Given the description of an element on the screen output the (x, y) to click on. 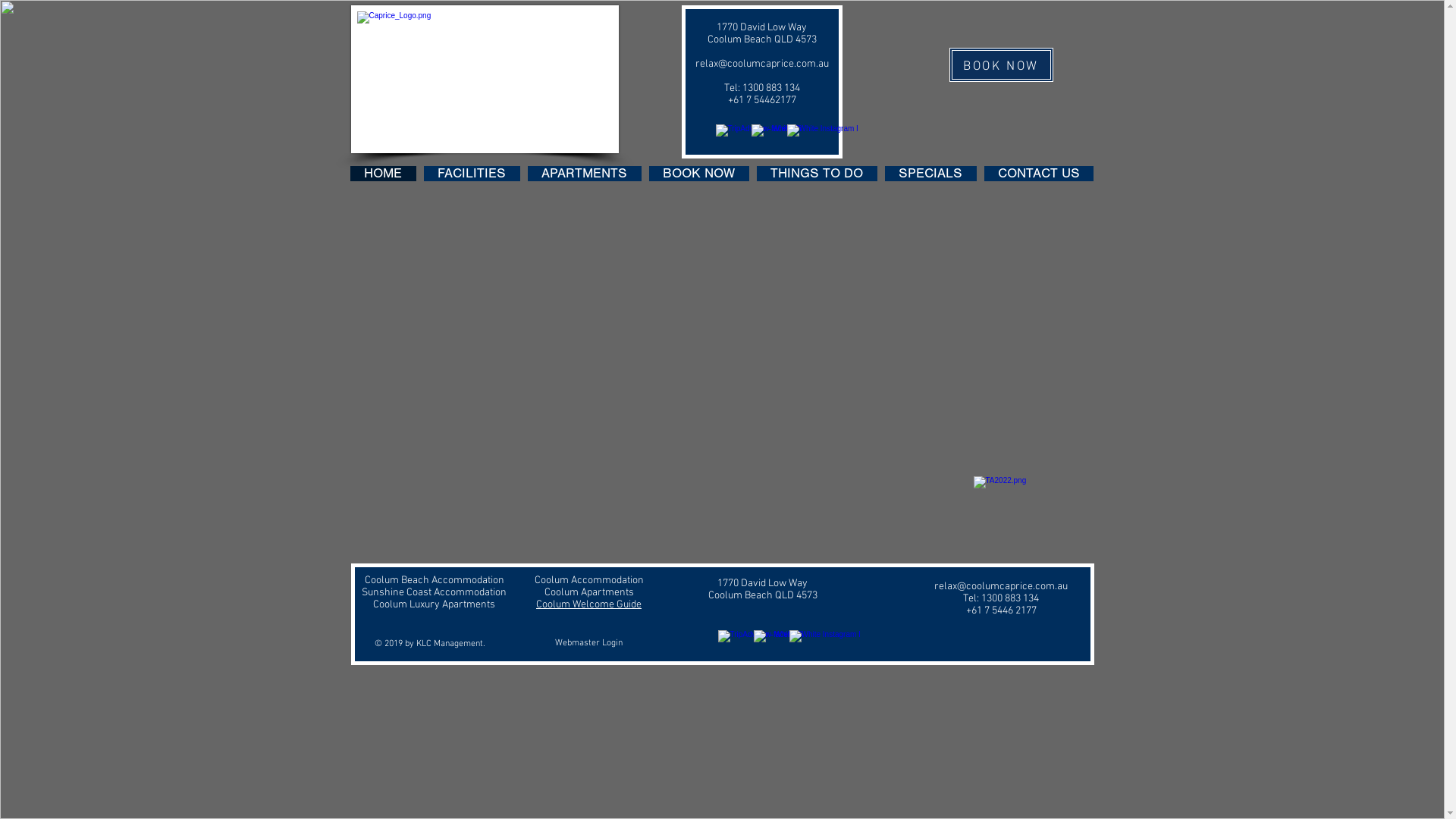
CONTACT US Element type: text (1038, 173)
APARTMENTS Element type: text (584, 173)
SPECIALS Element type: text (929, 173)
HOME Element type: text (383, 173)
THINGS TO DO Element type: text (816, 173)
Webmaster Login Element type: text (589, 642)
relax@coolumcaprice.com.au Element type: text (761, 62)
BOOK NOW Element type: text (699, 173)
relax@coolumcaprice.com.au Element type: text (1000, 585)
BOOK NOW Element type: text (1001, 64)
FACILITIES Element type: text (471, 173)
Coolum Welcome Guide Element type: text (588, 603)
